Given the description of an element on the screen output the (x, y) to click on. 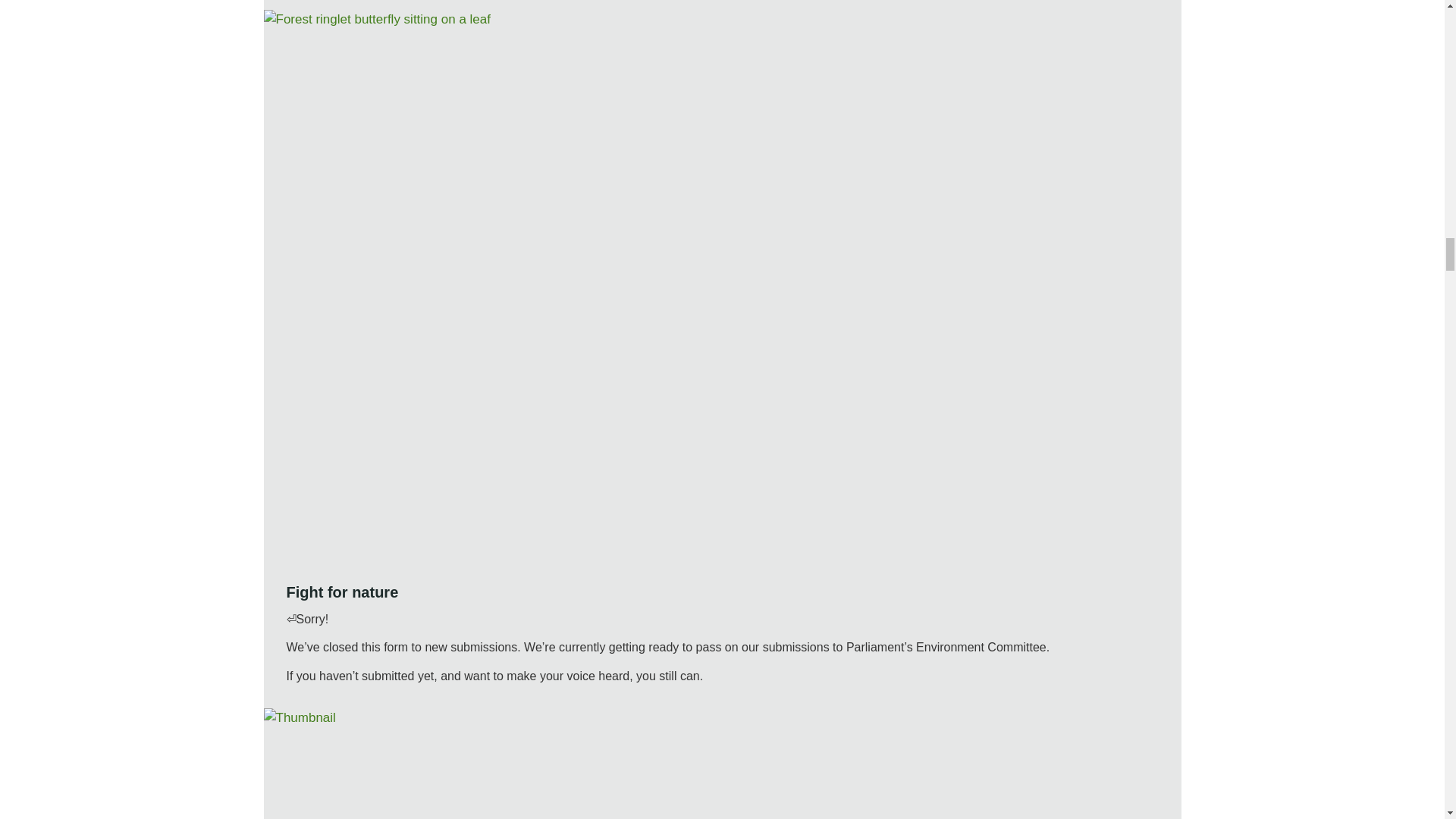
plastic waste.jpg (721, 763)
